Given the description of an element on the screen output the (x, y) to click on. 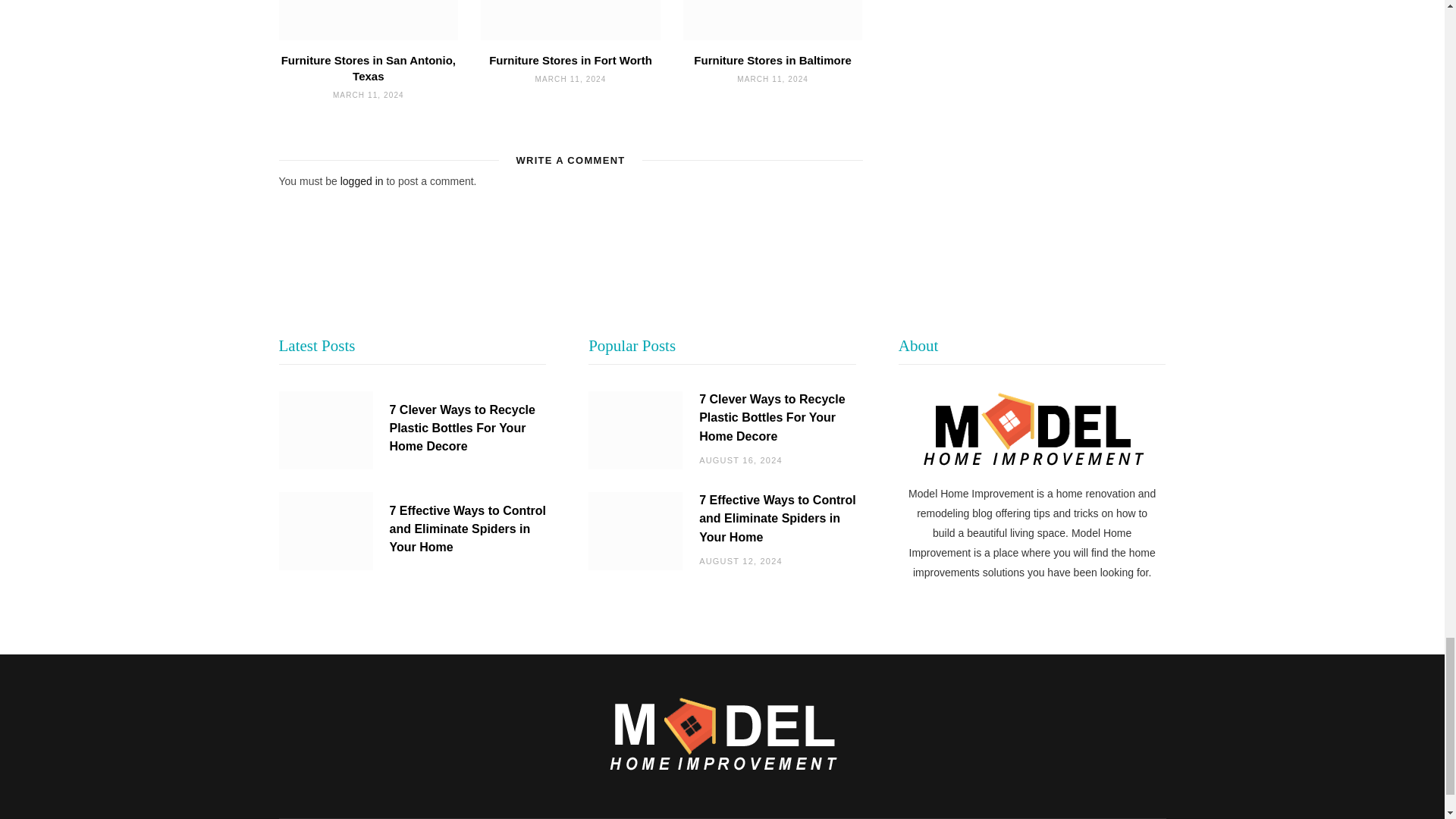
MARCH 11, 2024 (368, 94)
Furniture Stores in San Antonio, Texas (368, 68)
MARCH 11, 2024 (571, 79)
Furniture Stores in Fort Worth (570, 60)
Furniture Stores in Fort Worth (570, 20)
Furniture Stores in San Antonio, Texas (368, 20)
Furniture Stores in Baltimore (772, 20)
Furniture Stores in Baltimore (772, 60)
MARCH 11, 2024 (772, 79)
logged in (362, 181)
